Given the description of an element on the screen output the (x, y) to click on. 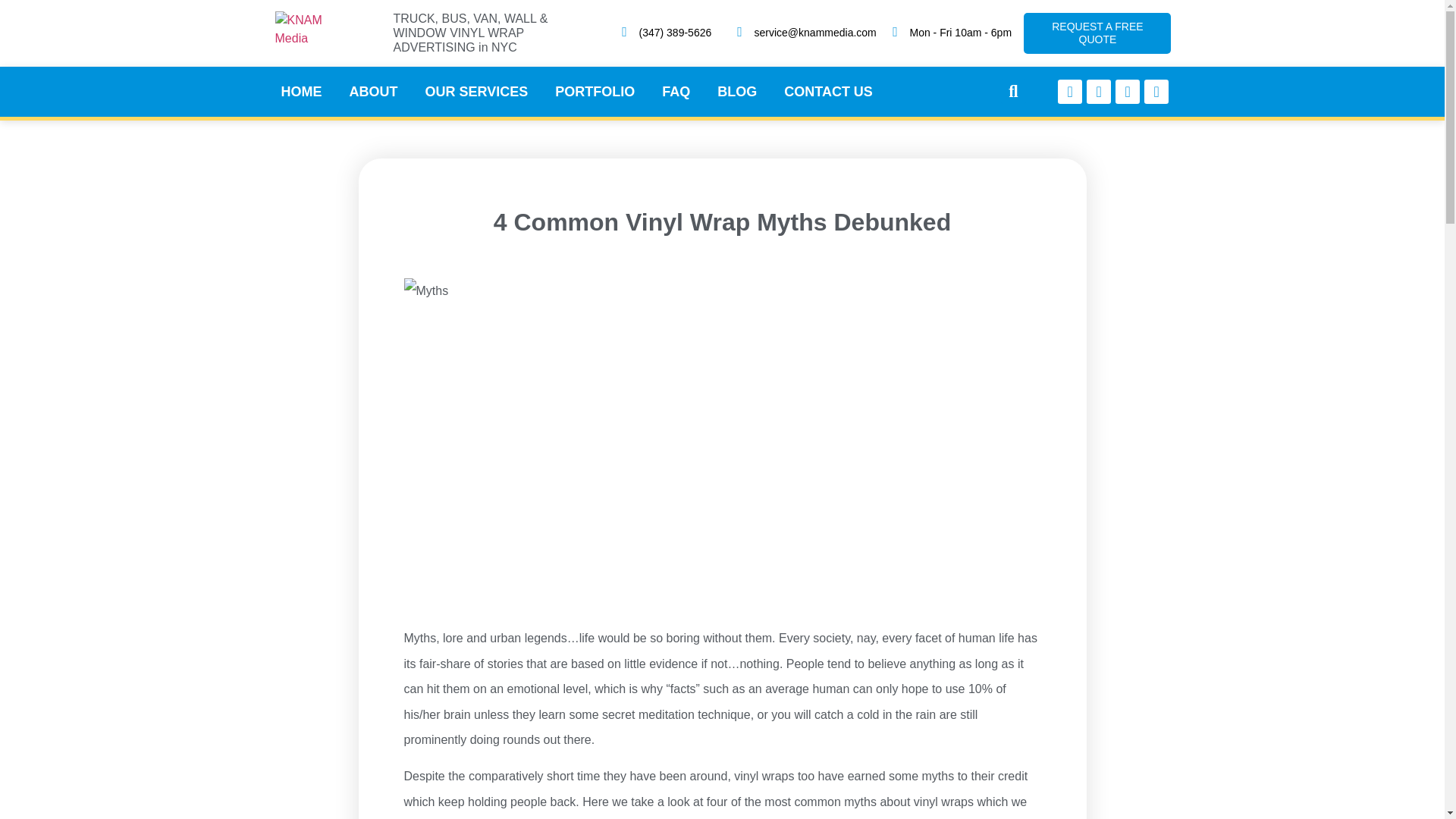
ABOUT (372, 91)
REQUEST A FREE QUOTE (1096, 33)
OUR SERVICES (475, 91)
HOME (300, 91)
